Given the description of an element on the screen output the (x, y) to click on. 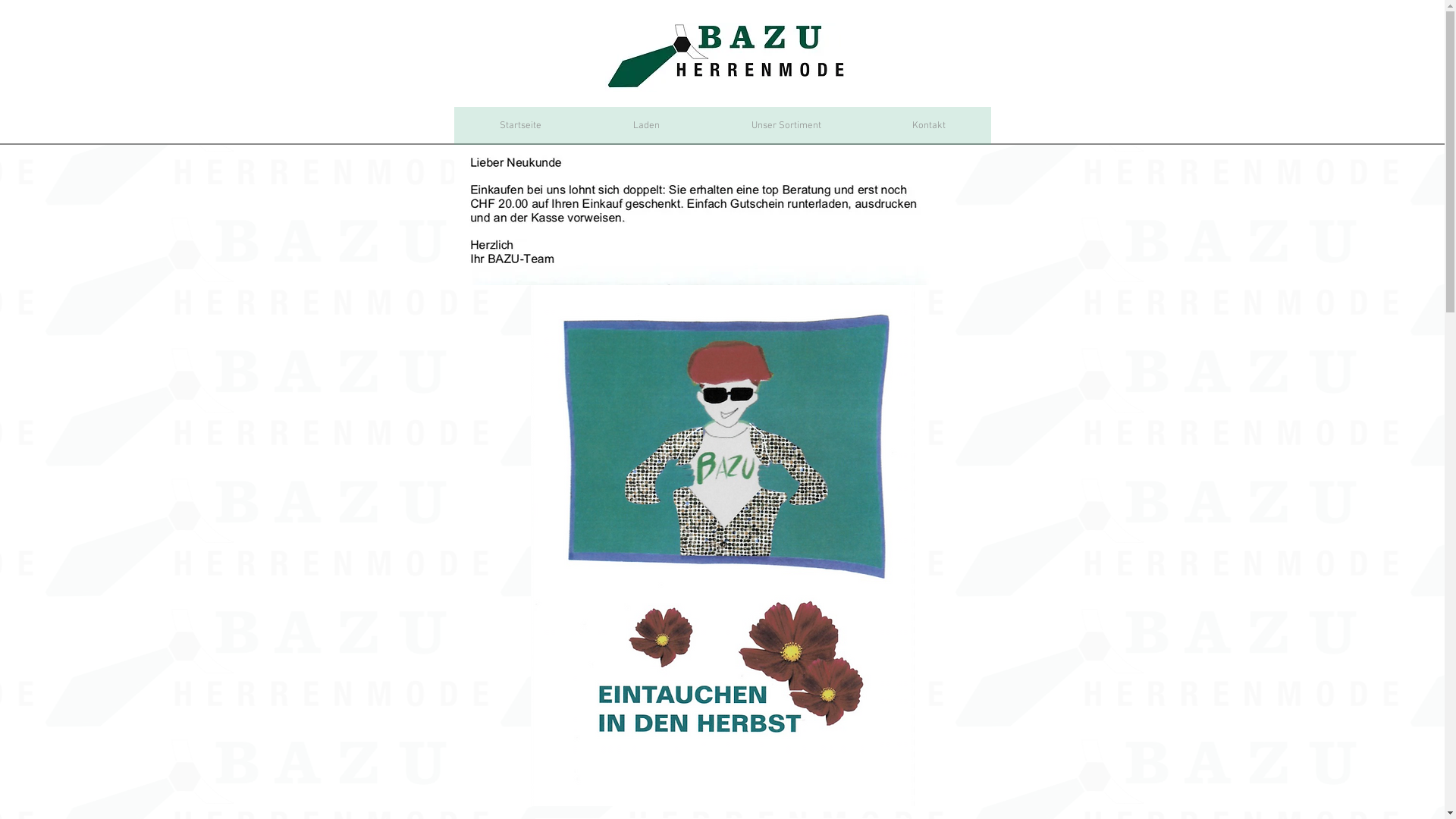
Bildschirmfoto 2021-09-27 um 19.58.53.jp Element type: hover (700, 214)
Startseite Element type: text (519, 125)
Kontakt Element type: text (928, 125)
Laden Element type: text (645, 125)
Bildschirmfoto 2022-04-27 um 11.33.32.png Element type: hover (722, 545)
Unser Sortiment Element type: text (785, 125)
